Given the description of an element on the screen output the (x, y) to click on. 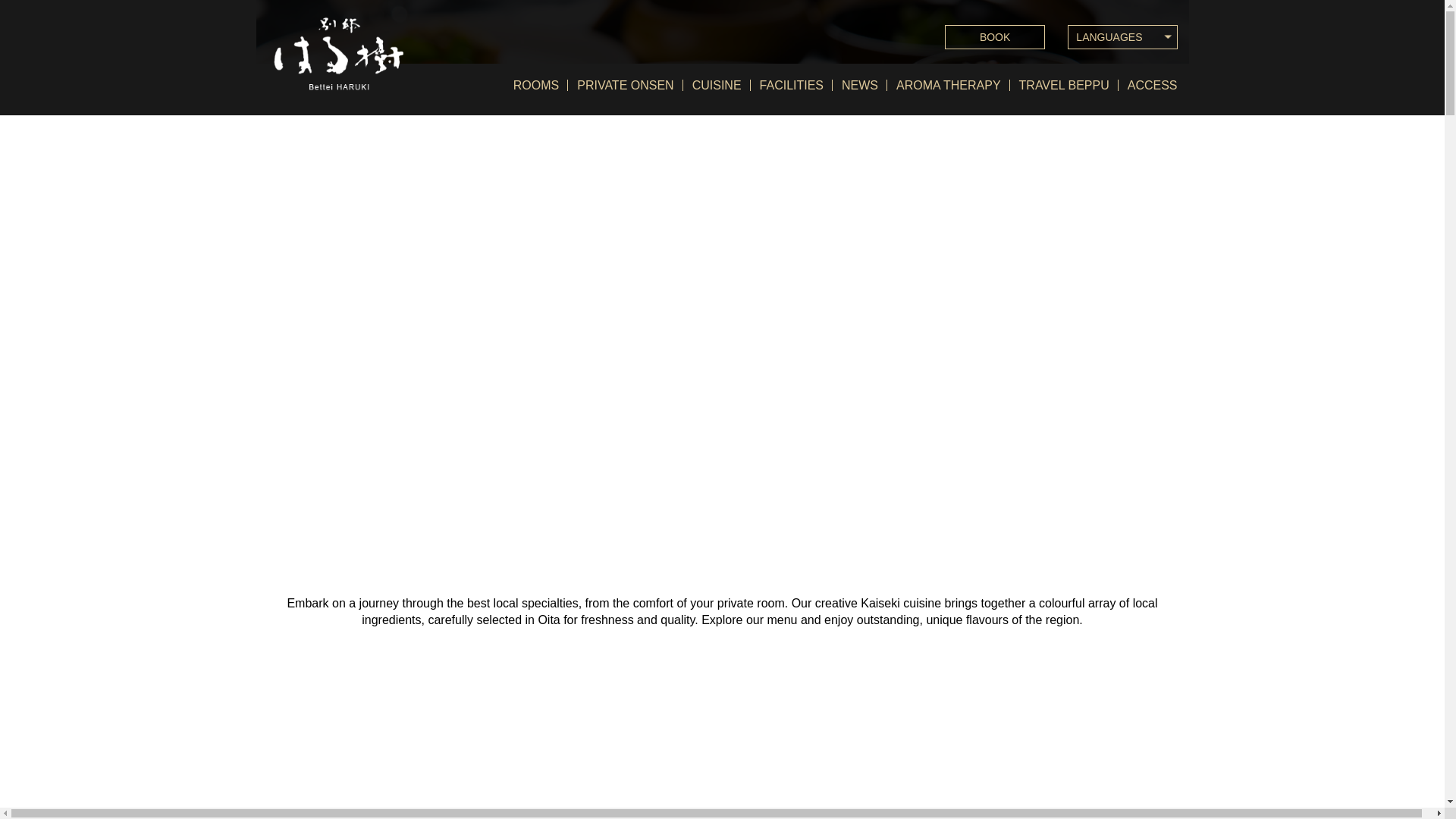
CUISINE (716, 84)
TRAVEL BEPPU (1064, 84)
FACILITIES (791, 84)
PRIVATE ONSEN (624, 84)
ACCESS (1147, 84)
LANGUAGES (1121, 37)
0977-24-8456 (734, 515)
ROOMS (535, 84)
BOOK (994, 37)
